Given the description of an element on the screen output the (x, y) to click on. 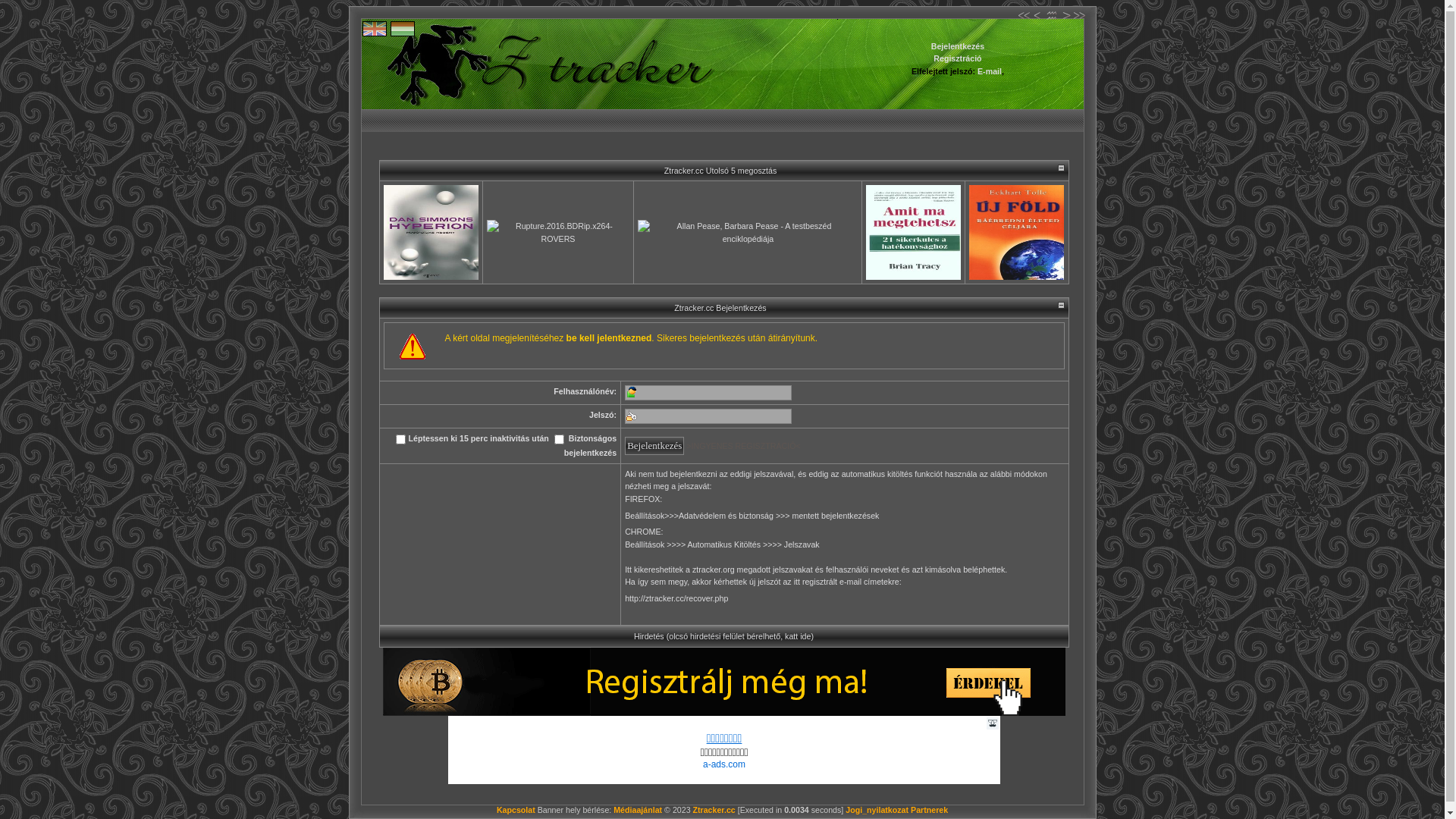
Brian Tracy - Amit ma megtehetsz Element type: hover (913, 232)
http://ztracker.cc/recover.php Element type: text (676, 604)
Kapcsolat Element type: text (515, 809)
magyar Element type: hover (402, 28)
Jogi_nyilatkozat Element type: text (876, 809)
Ztracker.cc Element type: text (714, 809)
E-mail Element type: text (989, 70)
english Element type: hover (374, 28)
Partnerek Element type: text (928, 809)
Rupture.2016.BDRip.x264-ROVERS Element type: hover (558, 231)
Dan Simmons - Hyperion Element type: hover (430, 232)
